Given the description of an element on the screen output the (x, y) to click on. 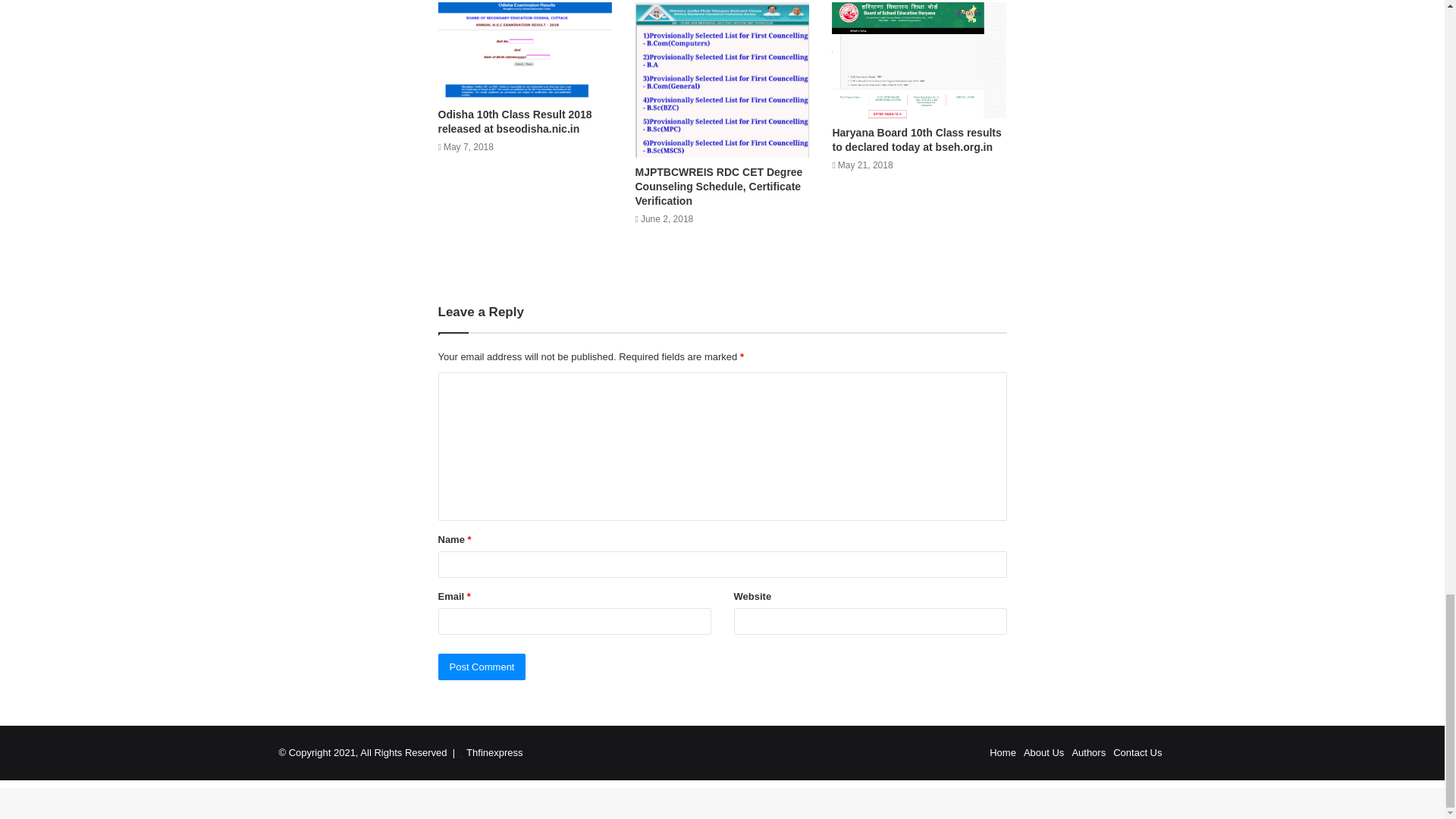
Post Comment (481, 666)
Odisha 10th Class Result 2018 released at bseodisha.nic.in (515, 121)
